Given the description of an element on the screen output the (x, y) to click on. 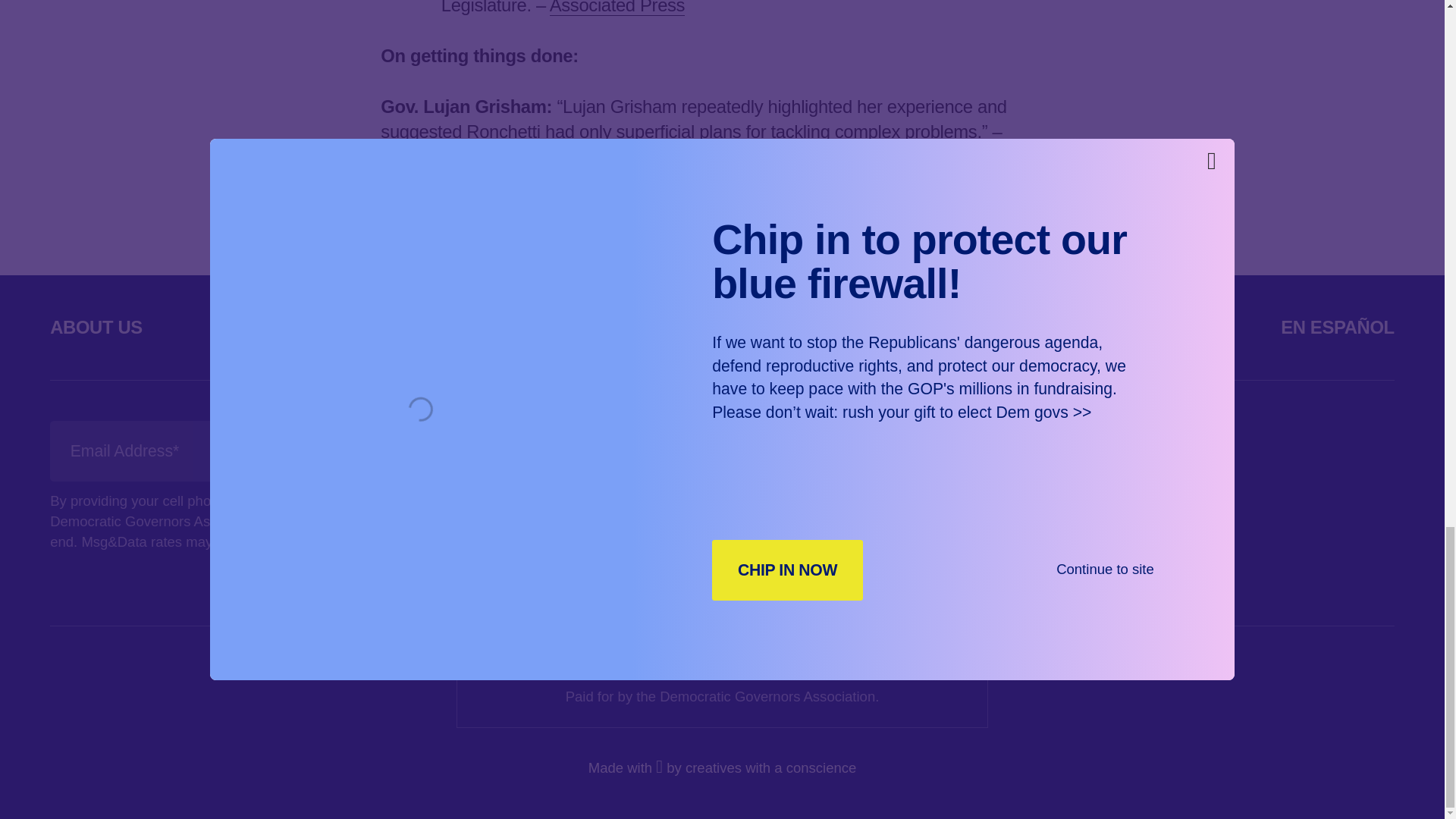
SHOP (973, 326)
Albuquerque Journal (460, 155)
JOIN THE TEAM (717, 450)
GOVERNORS (316, 326)
Privacy Policy (300, 541)
Associated Press (617, 7)
THE LATEST (544, 326)
ABOUT US (95, 326)
JOBS (1139, 326)
TAKE ACTION (773, 326)
